Given the description of an element on the screen output the (x, y) to click on. 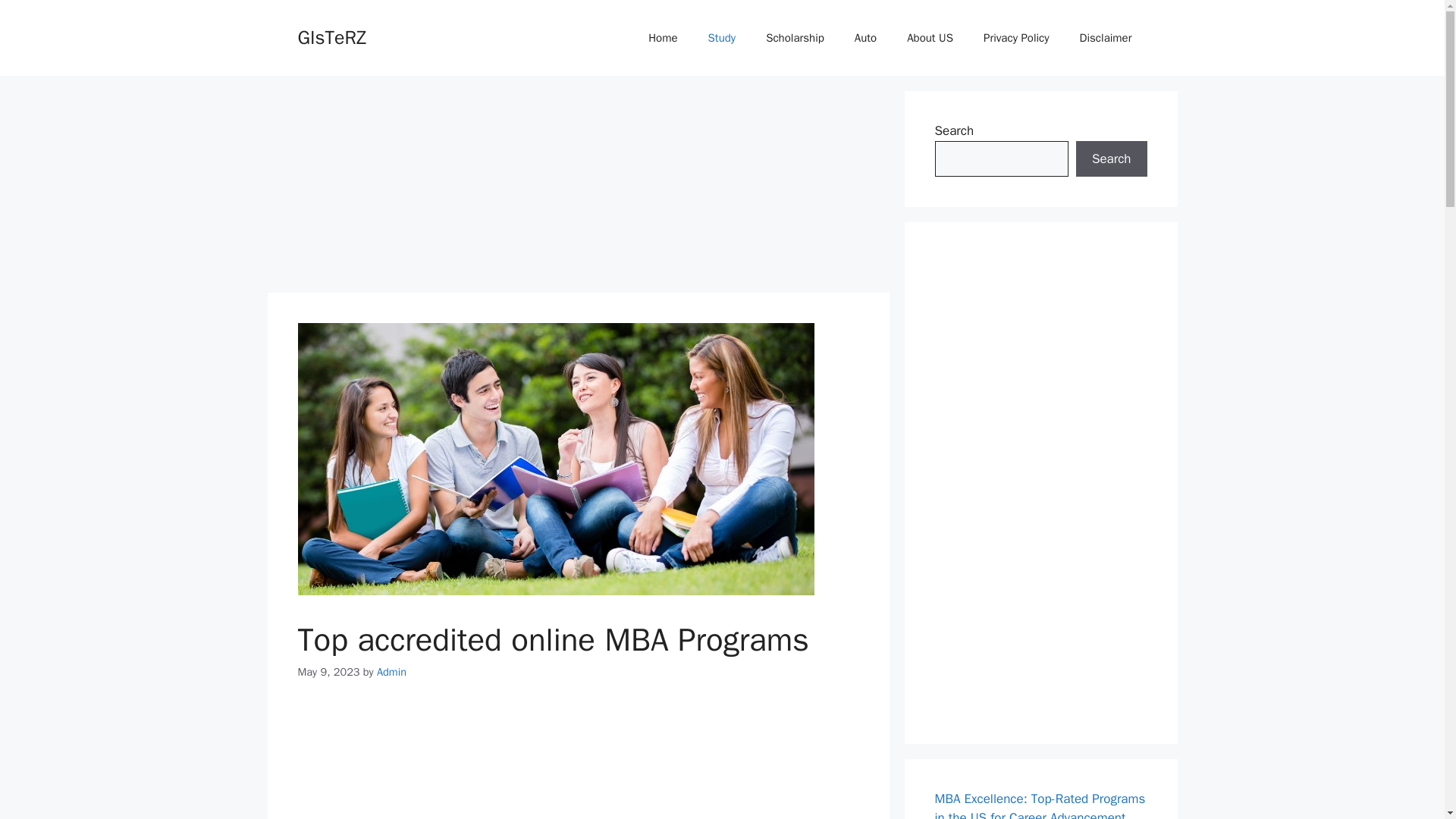
Advertisement (576, 762)
Admin (391, 671)
Auto (865, 37)
Privacy Policy (1016, 37)
Search (1111, 158)
About US (929, 37)
Study (722, 37)
View all posts by Admin (391, 671)
Advertisement (577, 185)
Disclaimer (1105, 37)
Scholarship (795, 37)
Home (663, 37)
GIsTeRZ (331, 37)
